Given the description of an element on the screen output the (x, y) to click on. 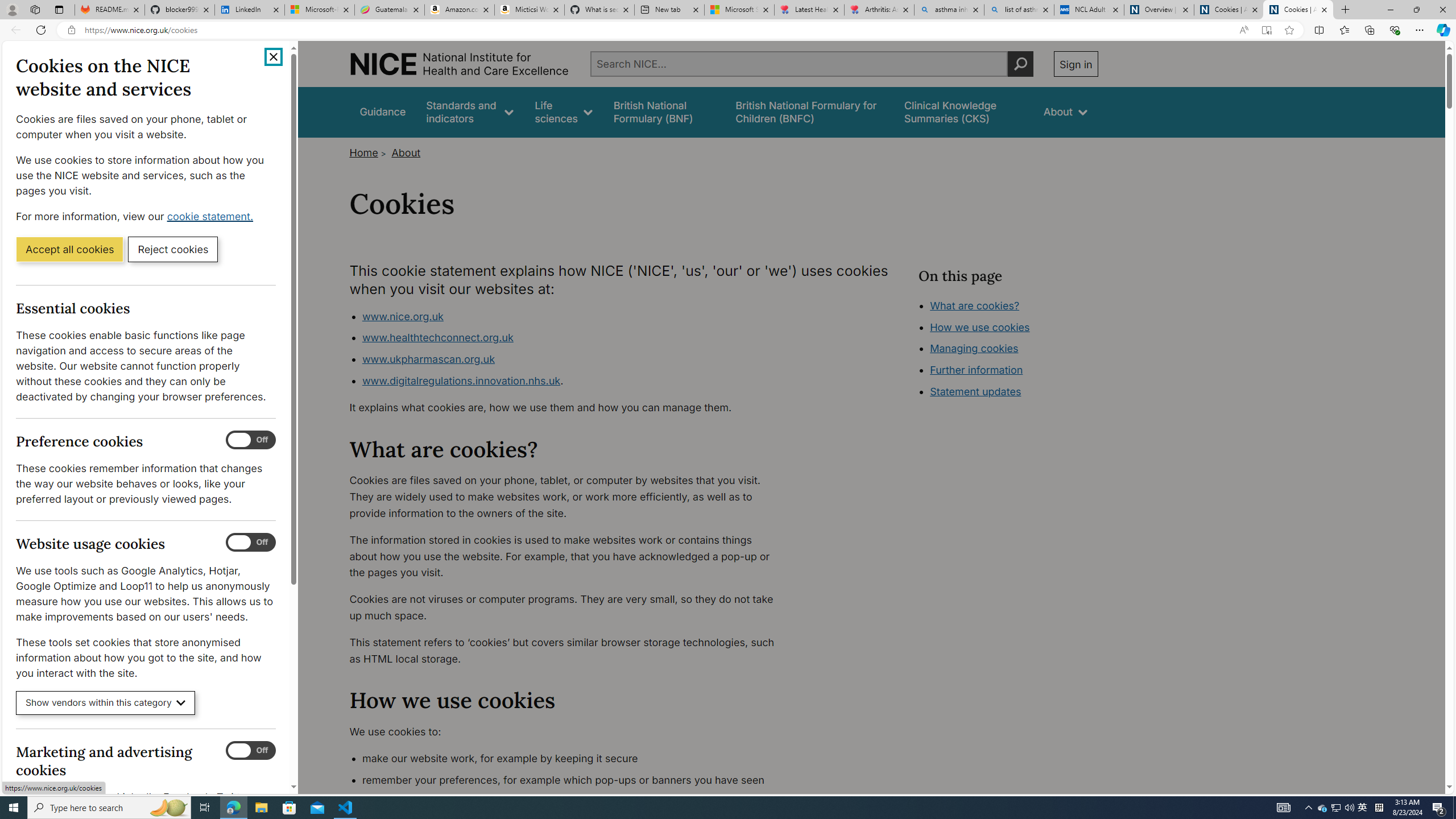
asthma inhaler - Search (949, 9)
www.nice.org.uk (402, 315)
NCL Adult Asthma Inhaler Choice Guideline (1088, 9)
How we use cookies (1018, 389)
www.ukpharmascan.org.uk (428, 359)
About (405, 152)
Life sciences (563, 111)
www.digitalregulations.innovation.nhs.uk (460, 380)
